Given the description of an element on the screen output the (x, y) to click on. 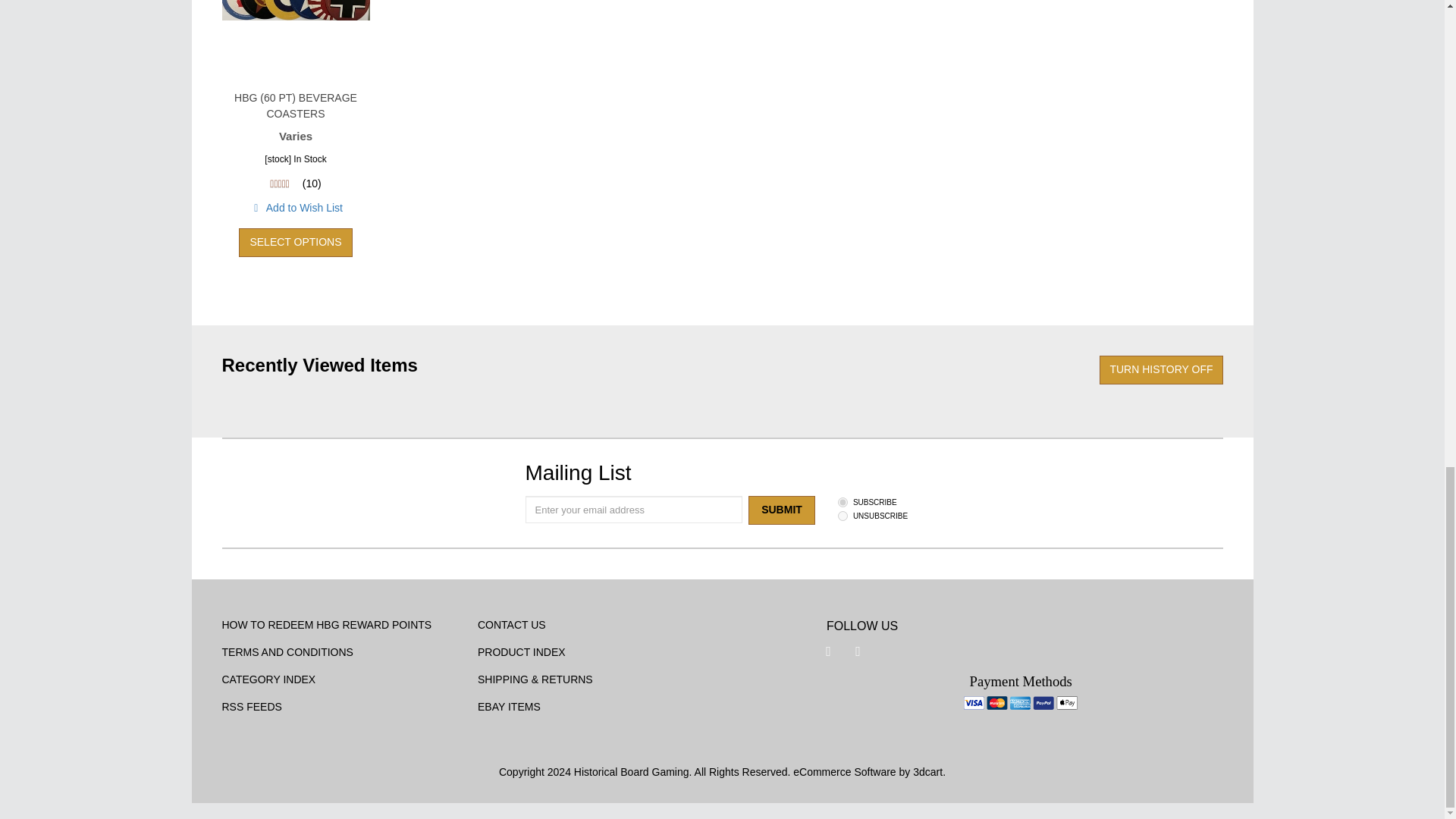
Like Us on Facebook (828, 651)
0 (842, 515)
1 (842, 501)
Subscribe to our Channel (857, 651)
